Given the description of an element on the screen output the (x, y) to click on. 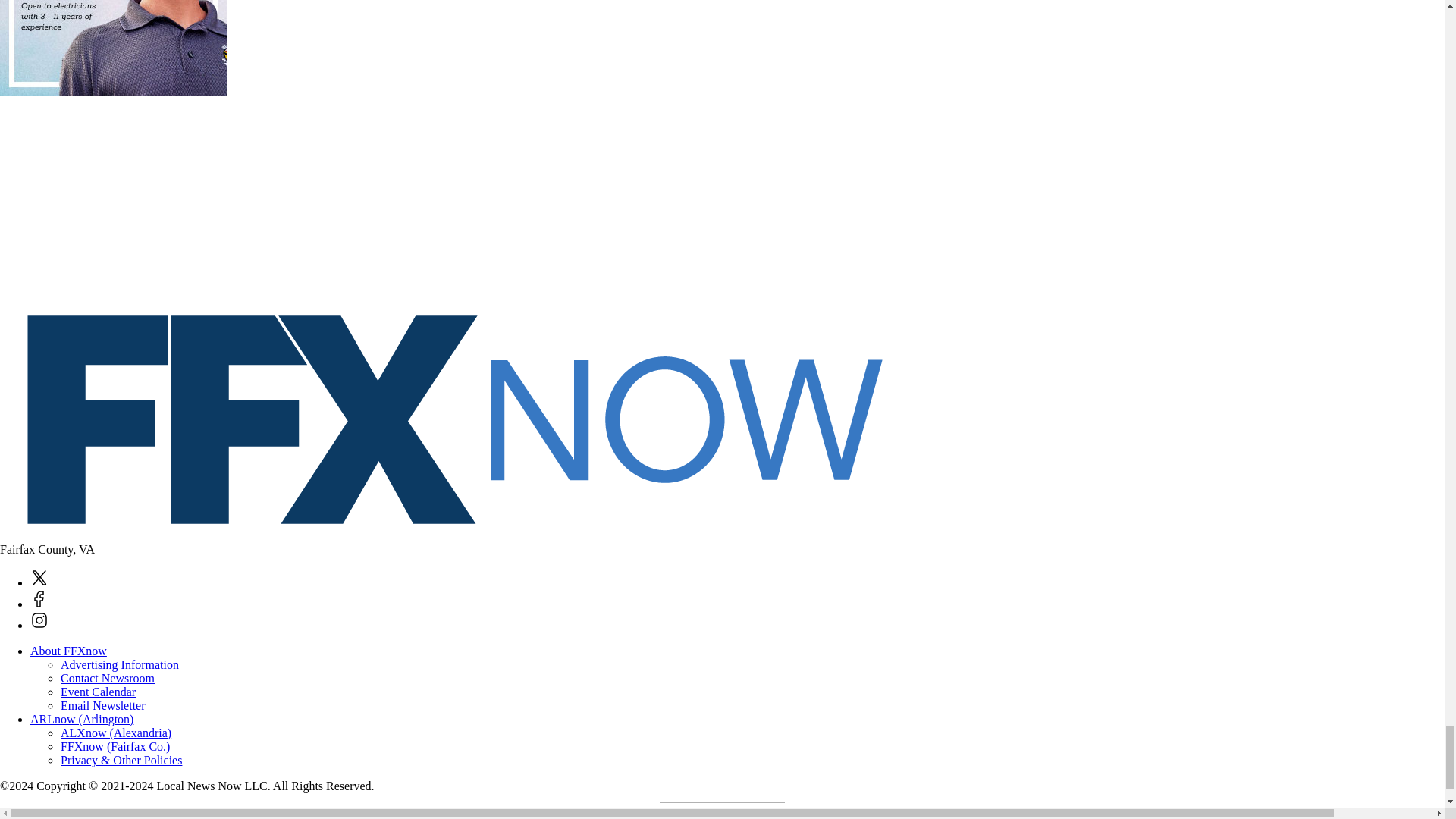
Earn Top Dollar FFXnow A (113, 49)
